Given the description of an element on the screen output the (x, y) to click on. 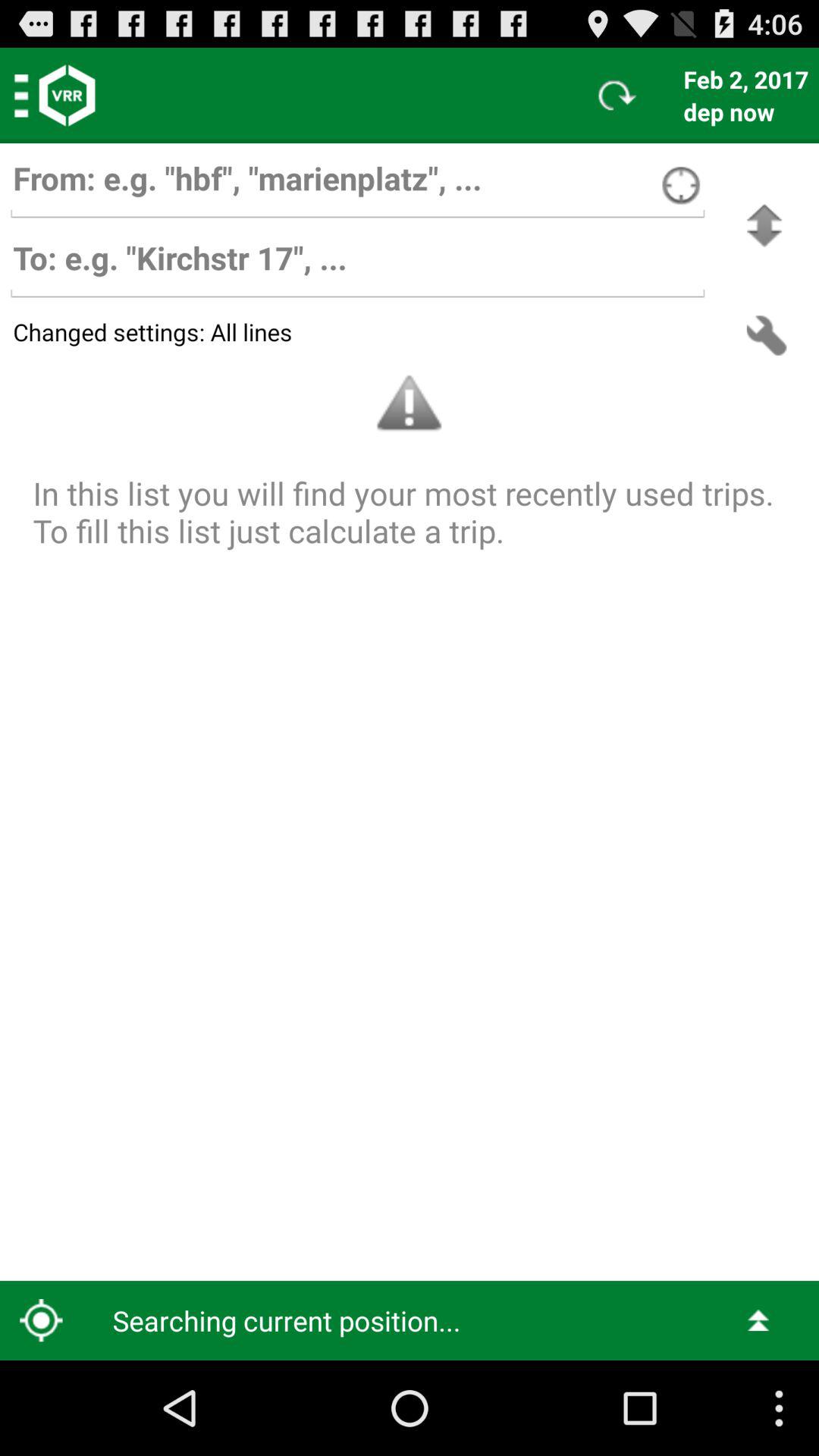
turn off the item next to the feb 2, 2017 icon (617, 95)
